Given the description of an element on the screen output the (x, y) to click on. 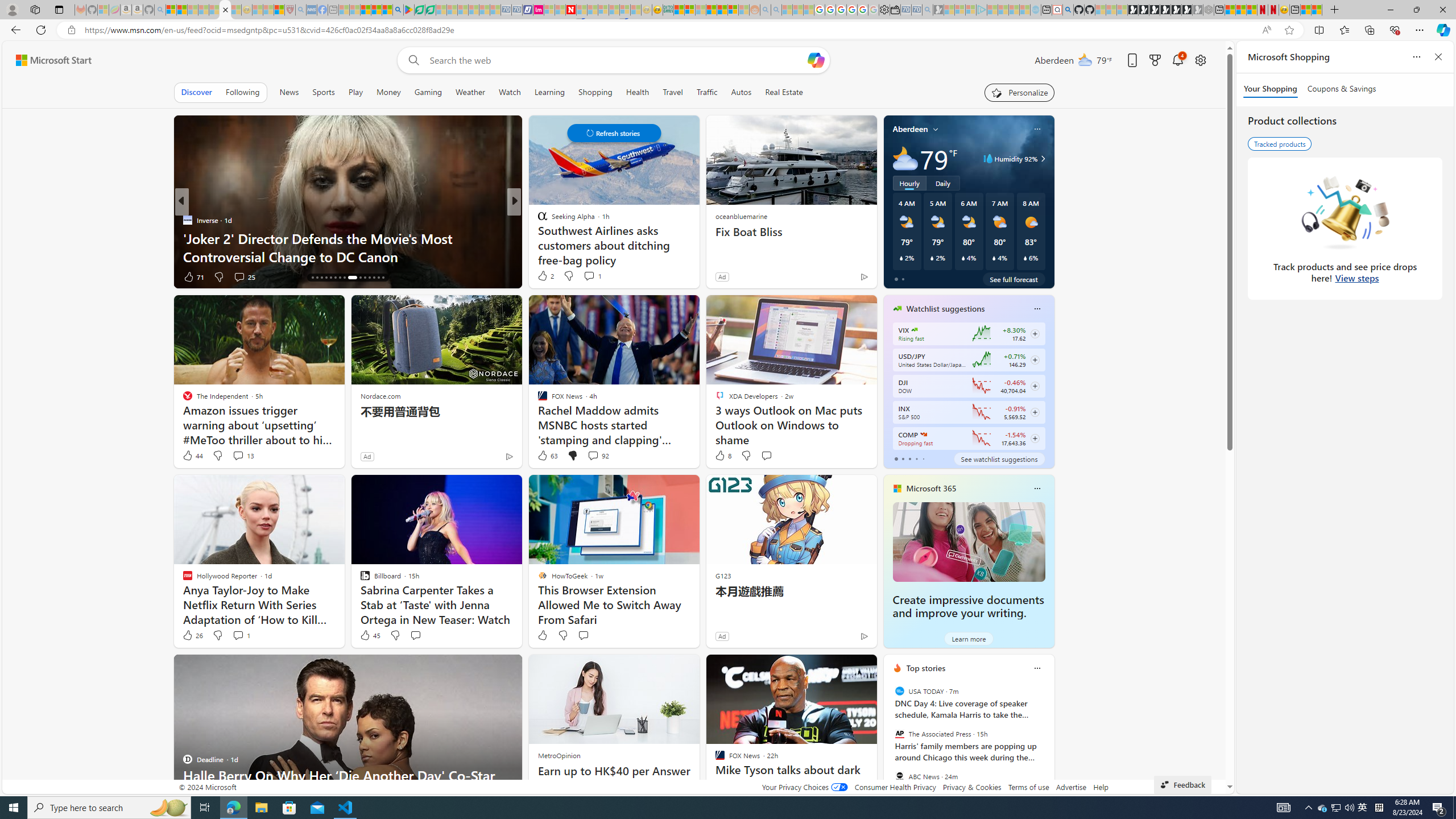
View comments 9 Comment (592, 276)
USA TODAY (898, 691)
Money (388, 92)
Microsoft Start - Sleeping (1014, 9)
Top stories (925, 668)
Open Copilot (816, 59)
tab-3 (916, 458)
View comments 20 Comment (592, 276)
Consumer Health Privacy (895, 786)
Favorites (1344, 29)
